Given the description of an element on the screen output the (x, y) to click on. 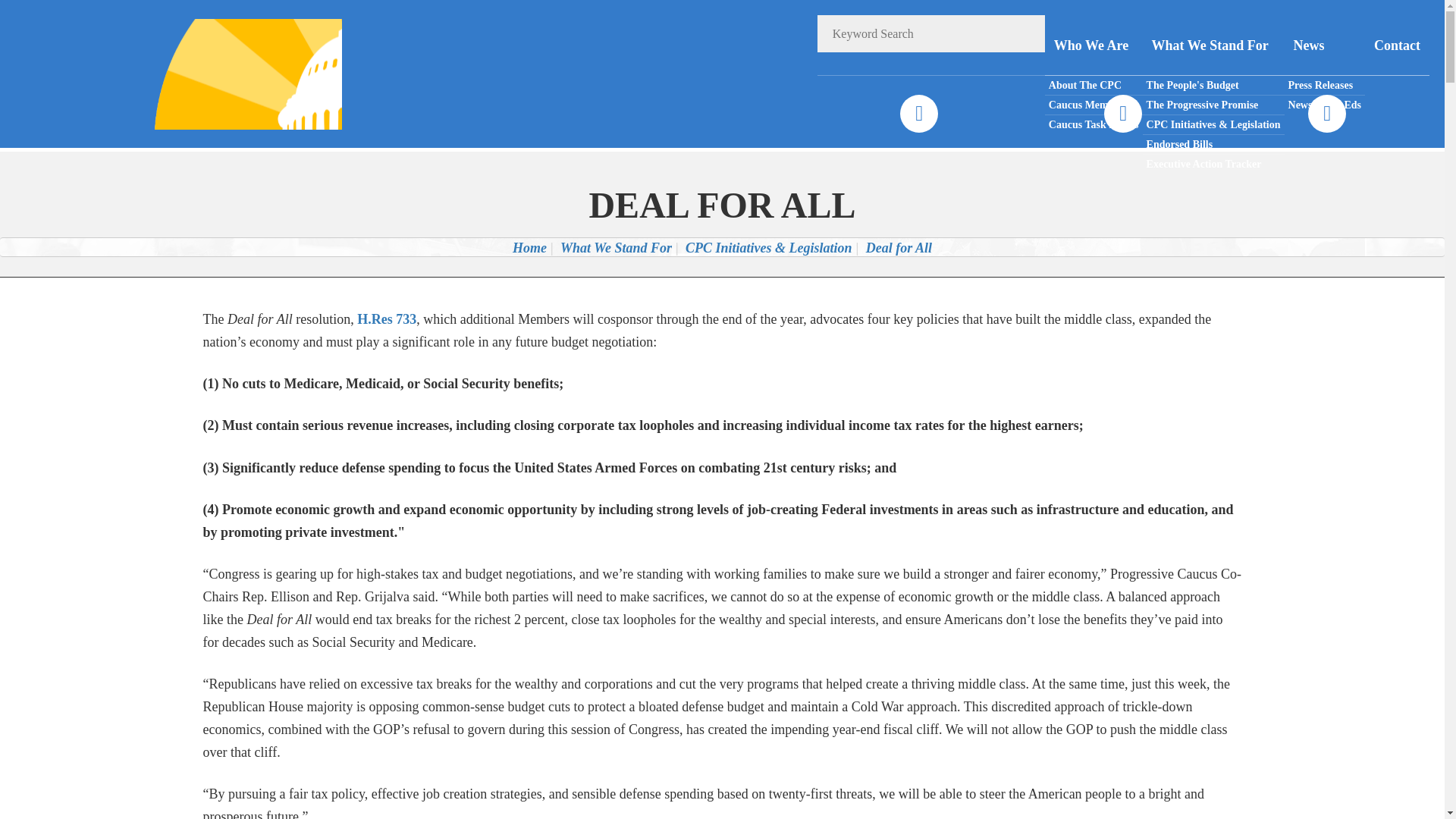
Deal for All (898, 247)
About The CPC (1093, 85)
The People's Budget (1213, 85)
CONGRESSIONAL PROGRESSIVE CAUCUS (228, 73)
Executive Action Tracker (1213, 163)
Endorsed Bills (1213, 144)
Caucus Members (1093, 105)
YouTube (1326, 113)
Contact (1397, 45)
The Progressive Promise (1213, 105)
